Given the description of an element on the screen output the (x, y) to click on. 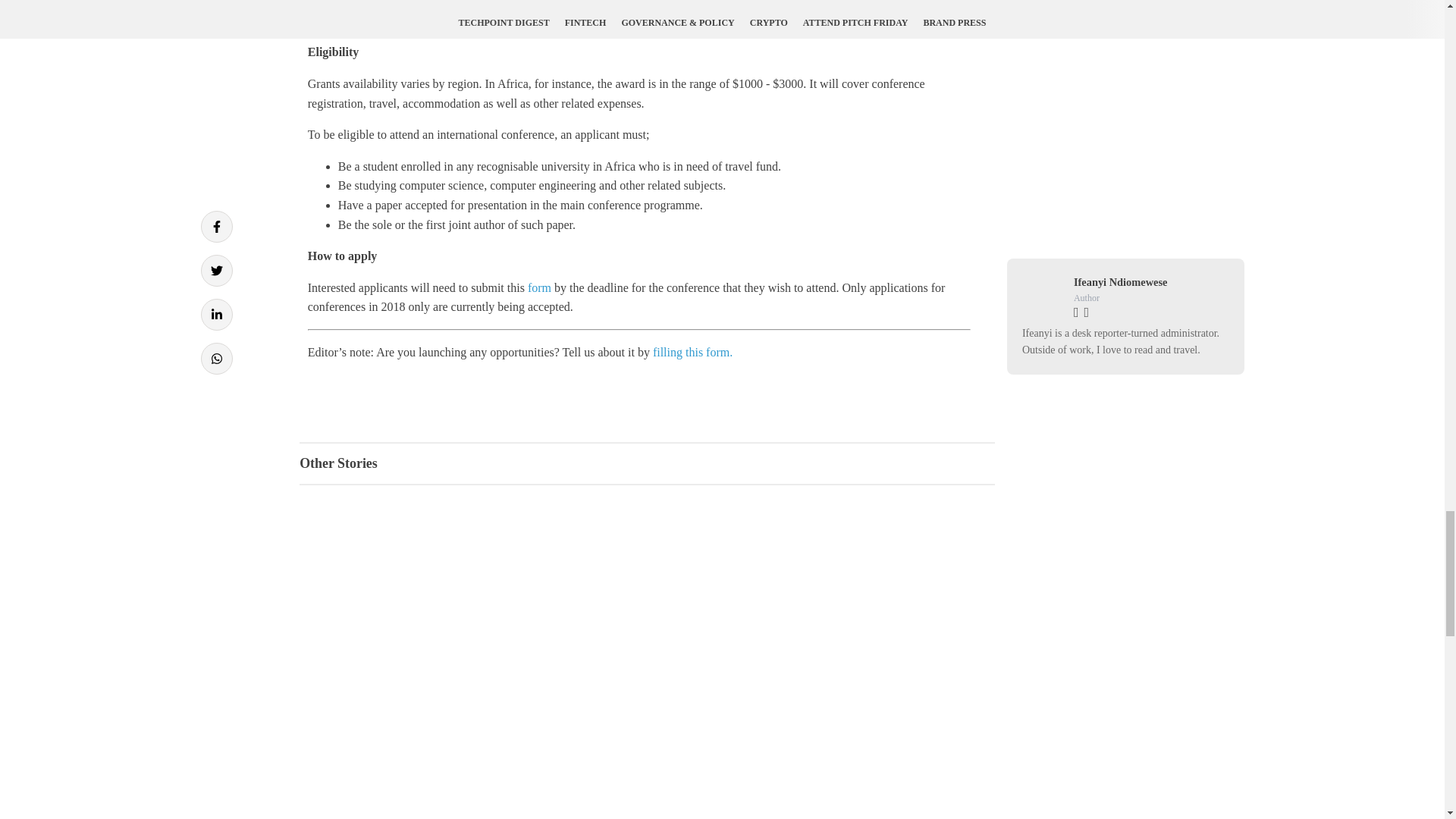
form (539, 287)
filling this form. (692, 351)
Ifeanyi Ndiomewese (1120, 282)
